Given the description of an element on the screen output the (x, y) to click on. 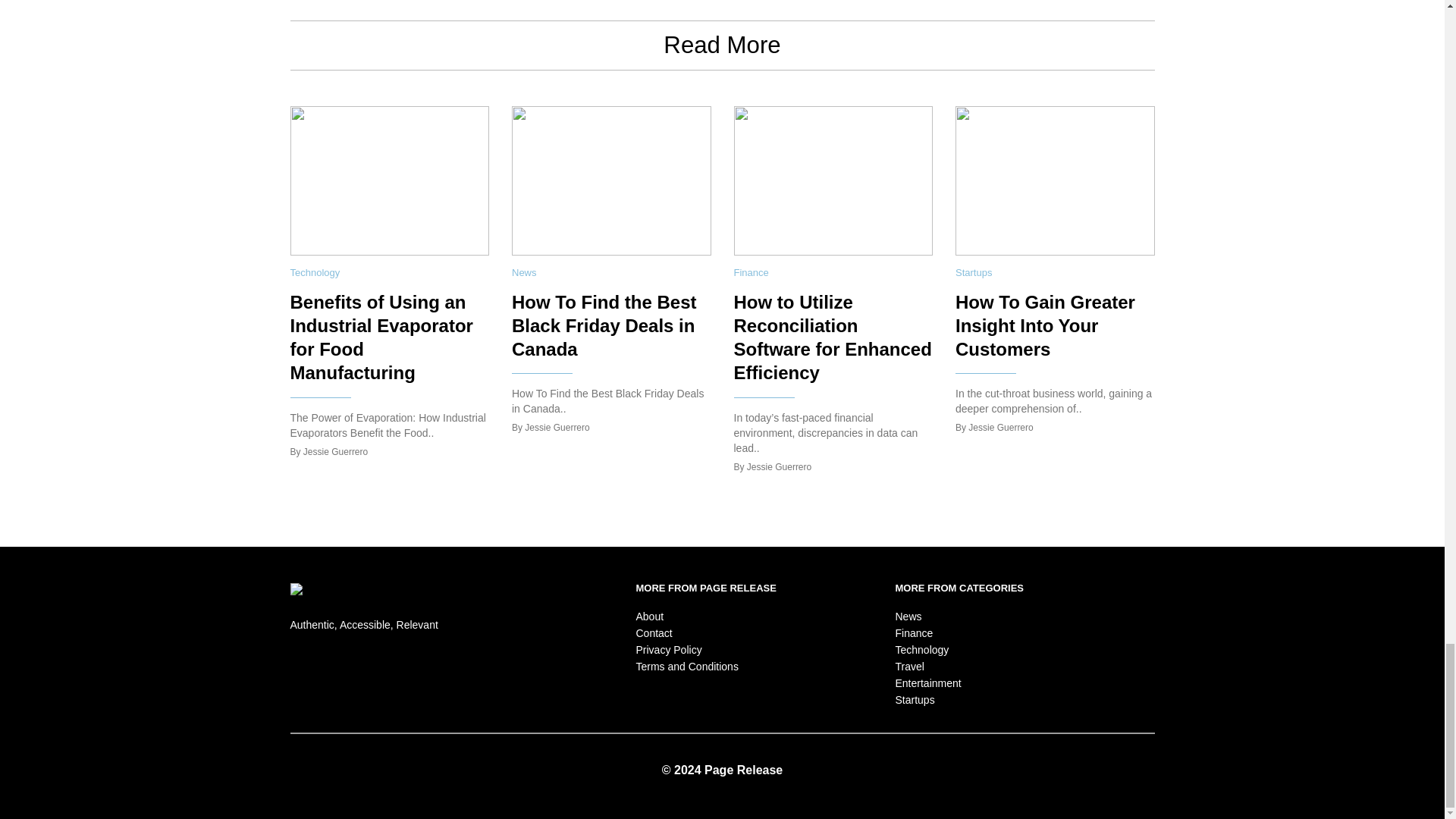
By Jessie Guerrero (328, 452)
How To Find the Best Black Friday Deals in Canada (604, 325)
By Jessie Guerrero (550, 428)
How To Find the Best Black Friday Deals in Canada.. (607, 400)
Startups (973, 272)
Technology (314, 272)
By Jessie Guerrero (772, 467)
Finance (750, 272)
News (524, 272)
